Given the description of an element on the screen output the (x, y) to click on. 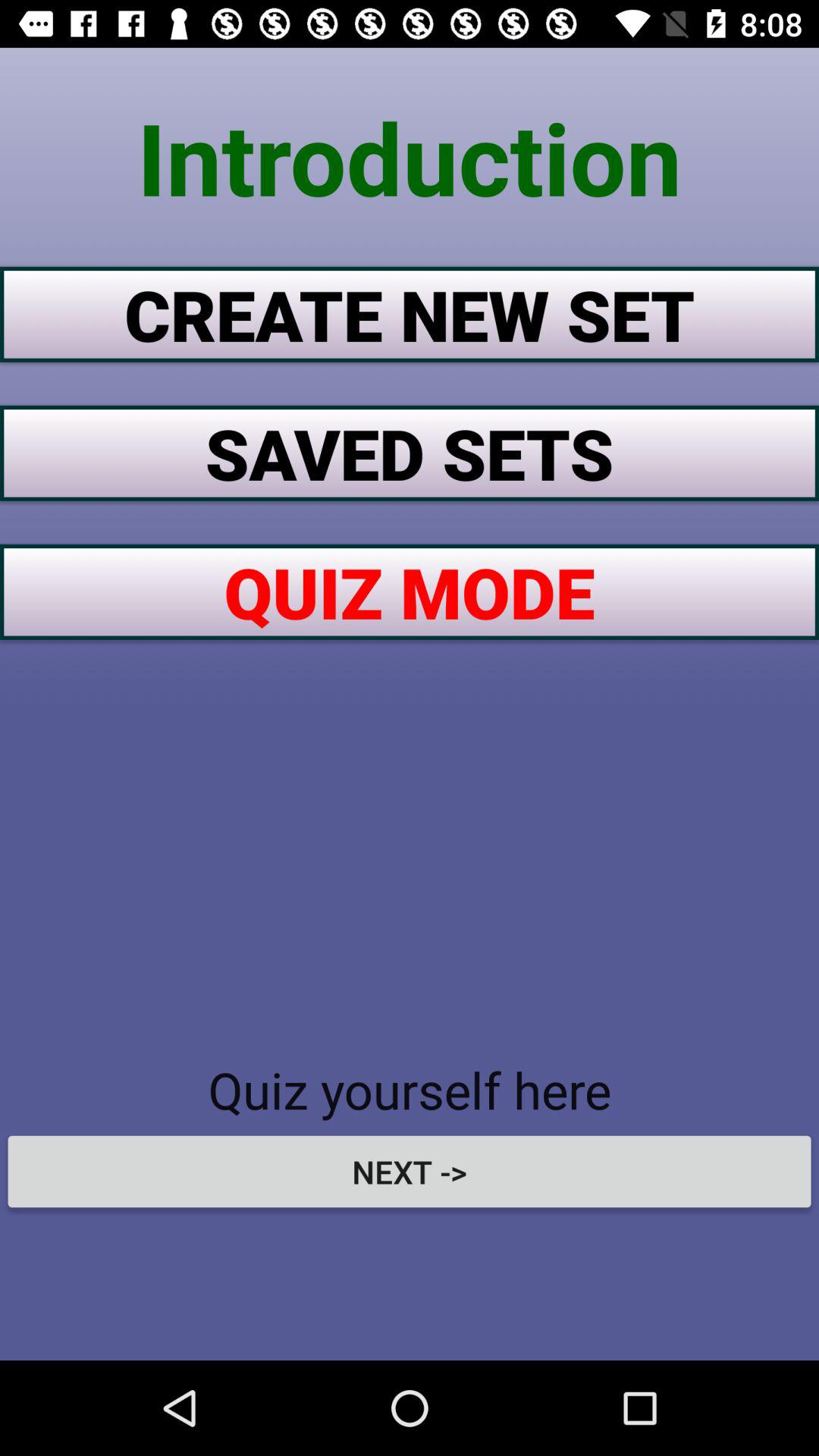
open icon below quiz yourself here item (409, 1171)
